Given the description of an element on the screen output the (x, y) to click on. 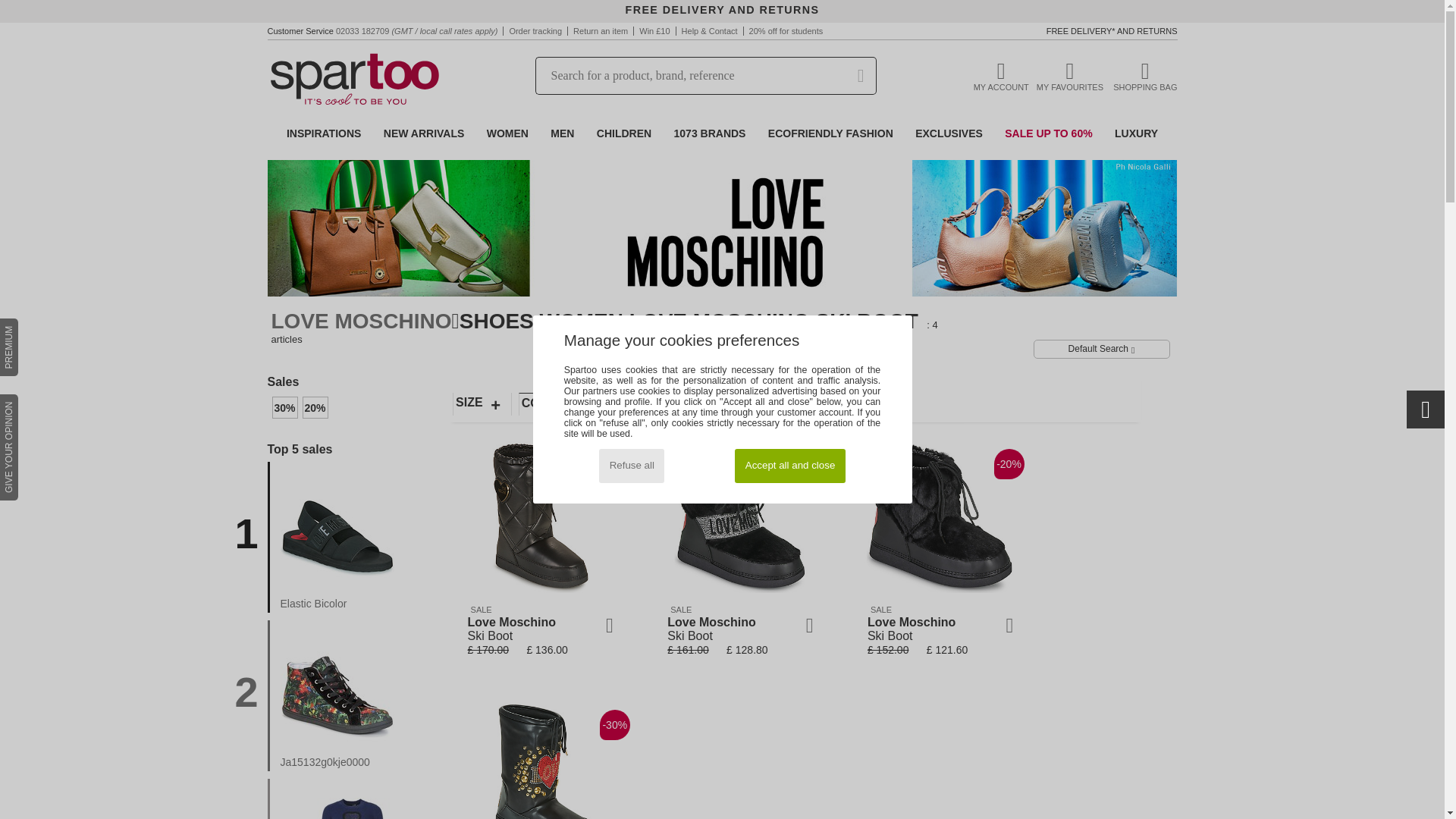
Accept all and close (789, 465)
Order tracking (535, 31)
Refuse all (630, 465)
SHOPPING BAG (1144, 74)
02033 182709 (362, 31)
MY ACCOUNT (1001, 74)
MY FAVOURITES (1069, 74)
Return an item (600, 31)
INSPIRATIONS (324, 133)
